Given the description of an element on the screen output the (x, y) to click on. 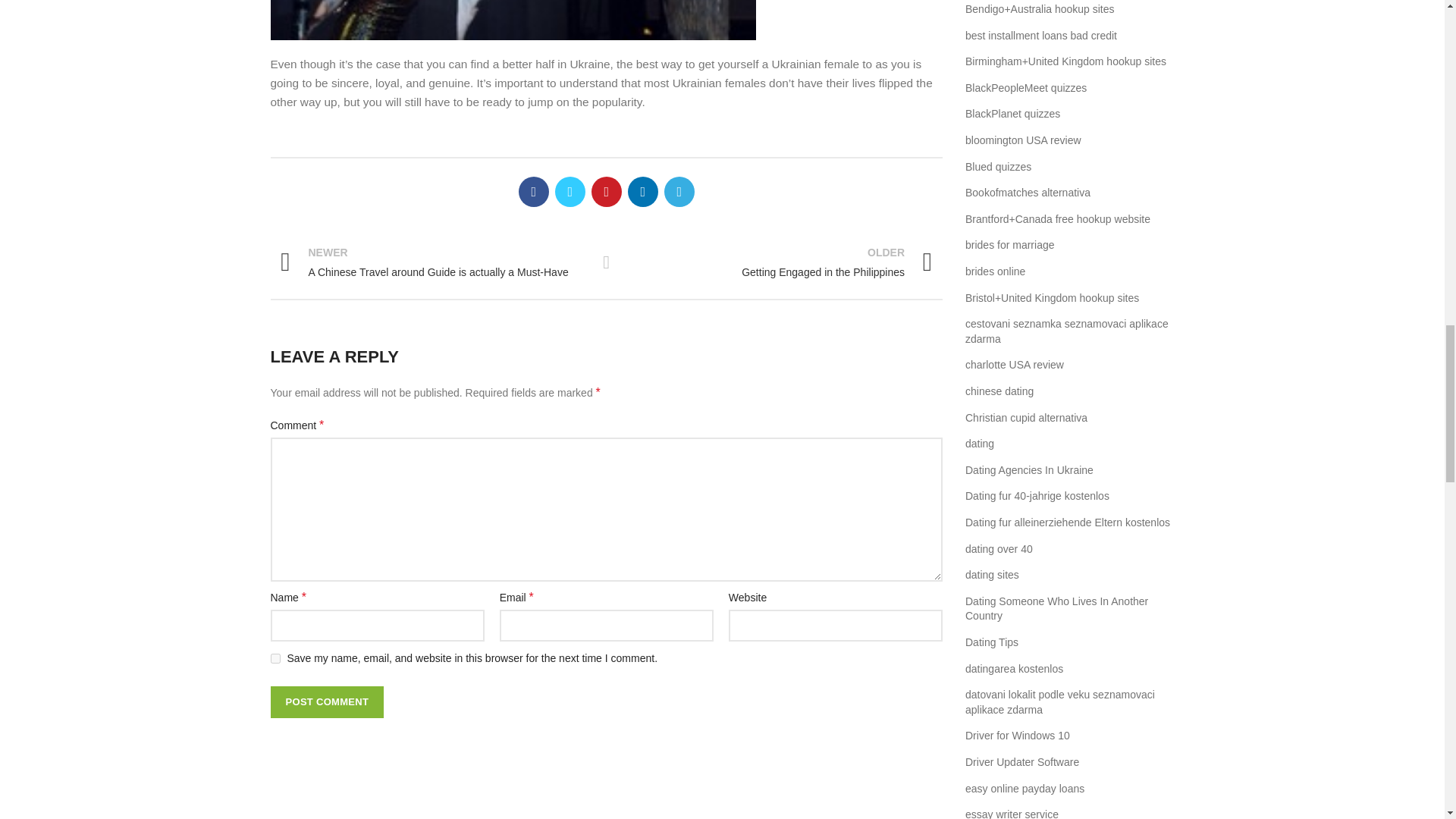
yes (274, 658)
Post Comment (779, 262)
Post Comment (326, 702)
Back to list (431, 262)
